Given the description of an element on the screen output the (x, y) to click on. 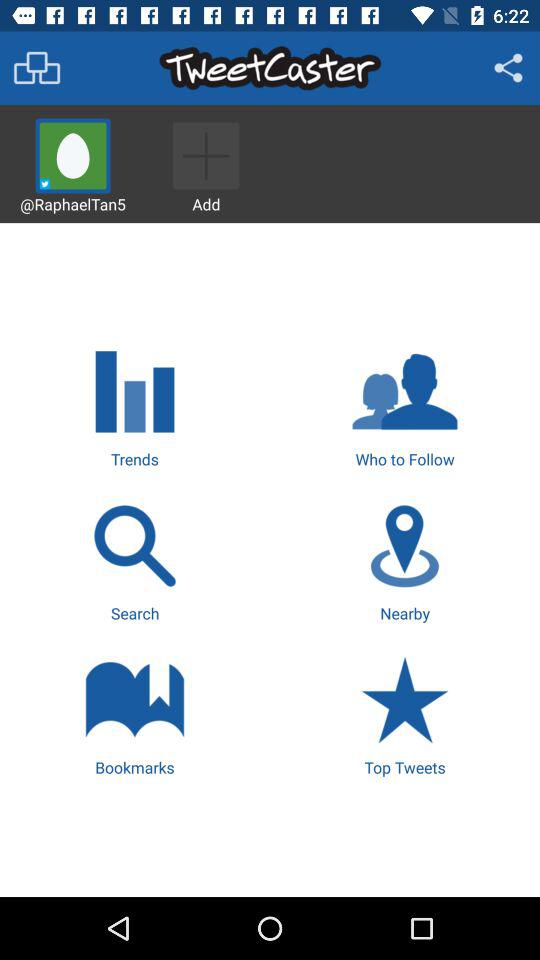
click item below trends (134, 559)
